Given the description of an element on the screen output the (x, y) to click on. 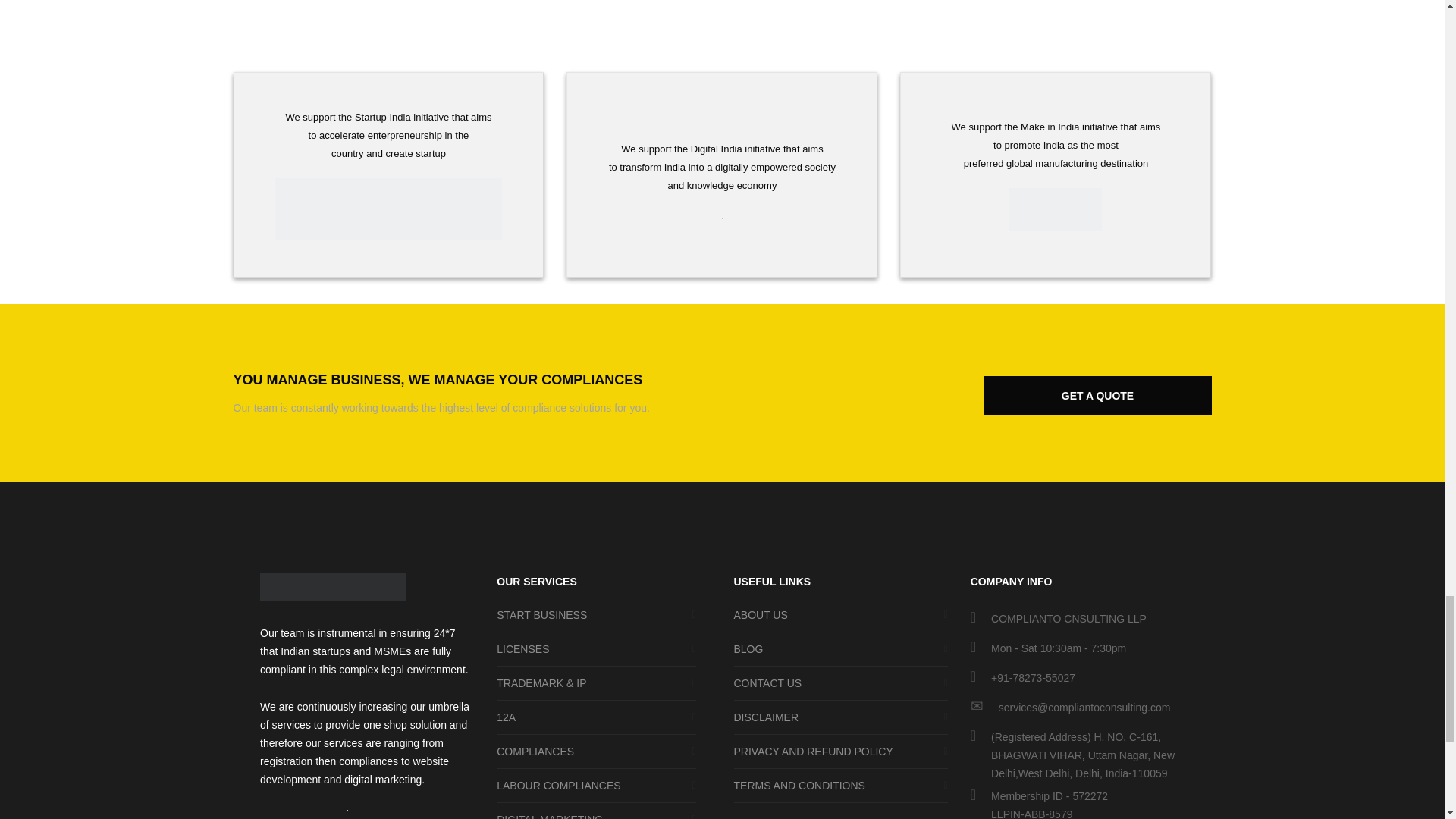
Logo1 (388, 209)
Layer-12 (333, 586)
mii (1055, 209)
